Given the description of an element on the screen output the (x, y) to click on. 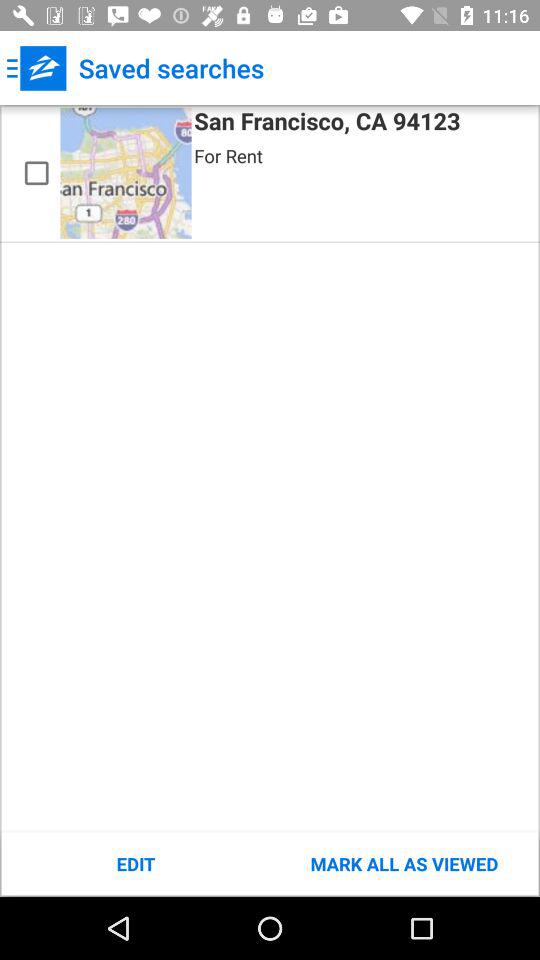
turn off icon to the left of the saved searches app (36, 68)
